Given the description of an element on the screen output the (x, y) to click on. 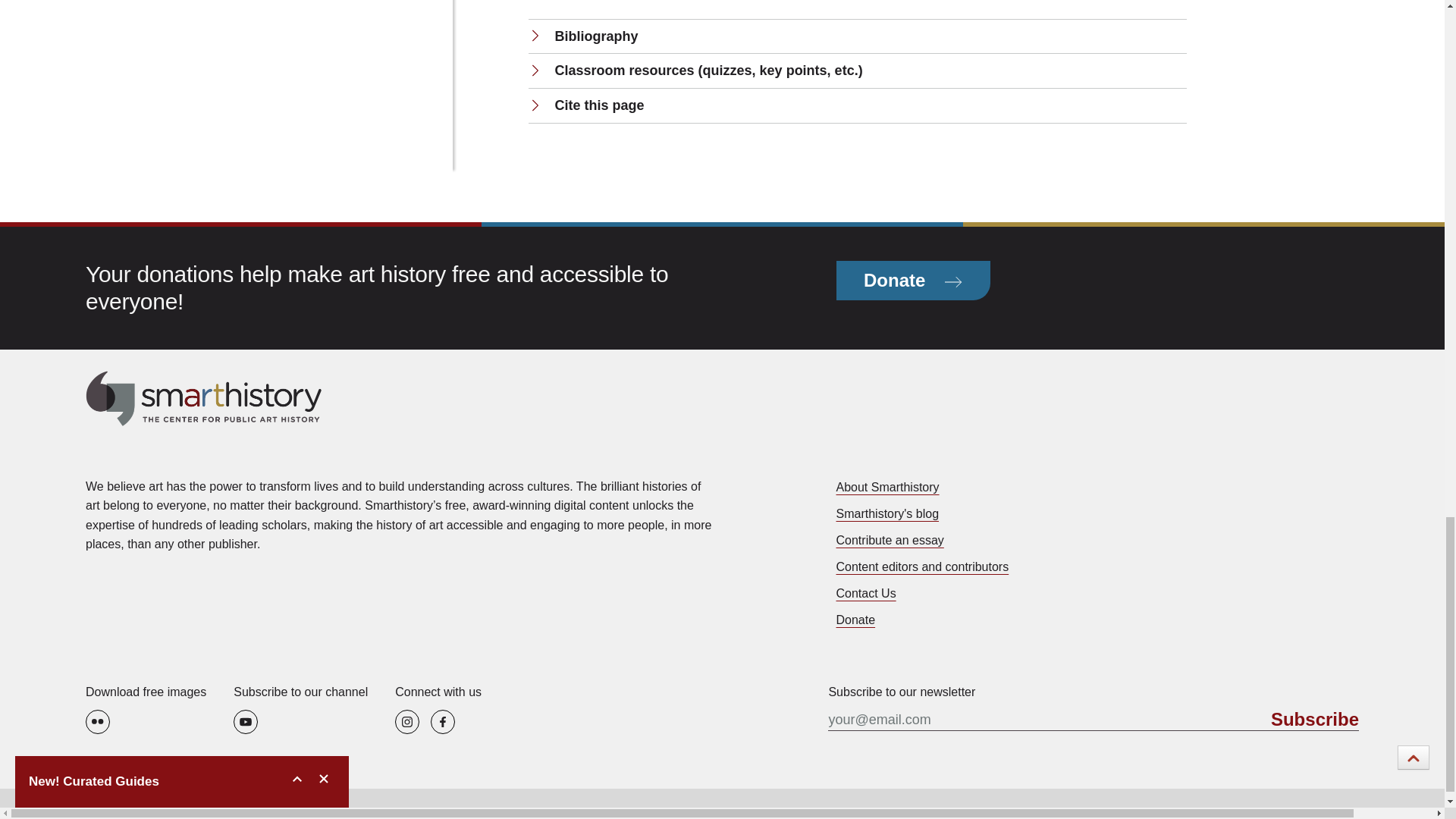
Subscribe (1314, 720)
